Given the description of an element on the screen output the (x, y) to click on. 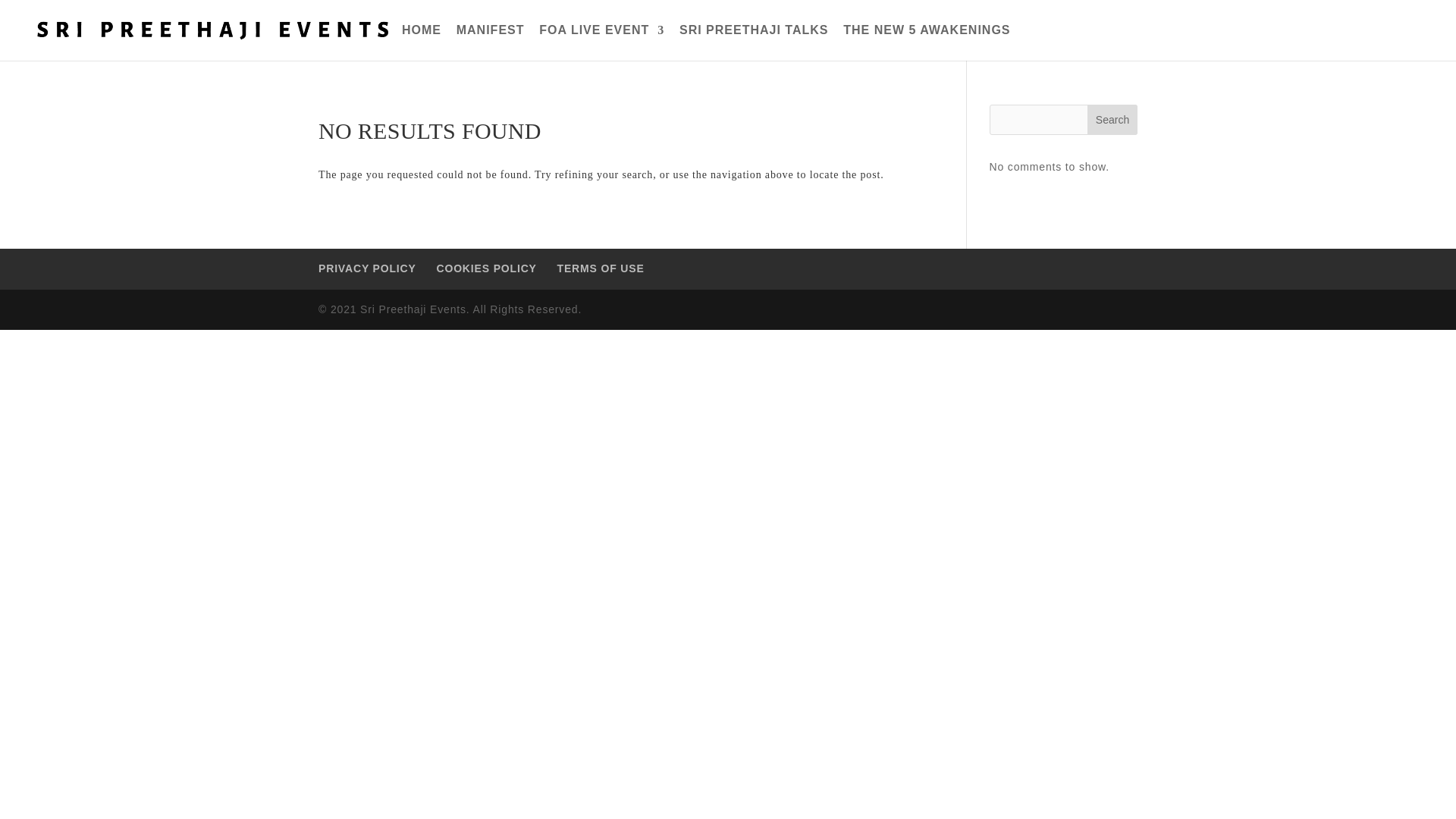
HOME (421, 42)
SRI PREETHAJI TALKS (753, 42)
MANIFEST (490, 42)
TERMS OF USE (601, 268)
PRIVACY POLICY (367, 268)
FOA LIVE EVENT (600, 42)
Search (1112, 119)
THE NEW 5 AWAKENINGS (926, 42)
COOKIES POLICY (485, 268)
